Given the description of an element on the screen output the (x, y) to click on. 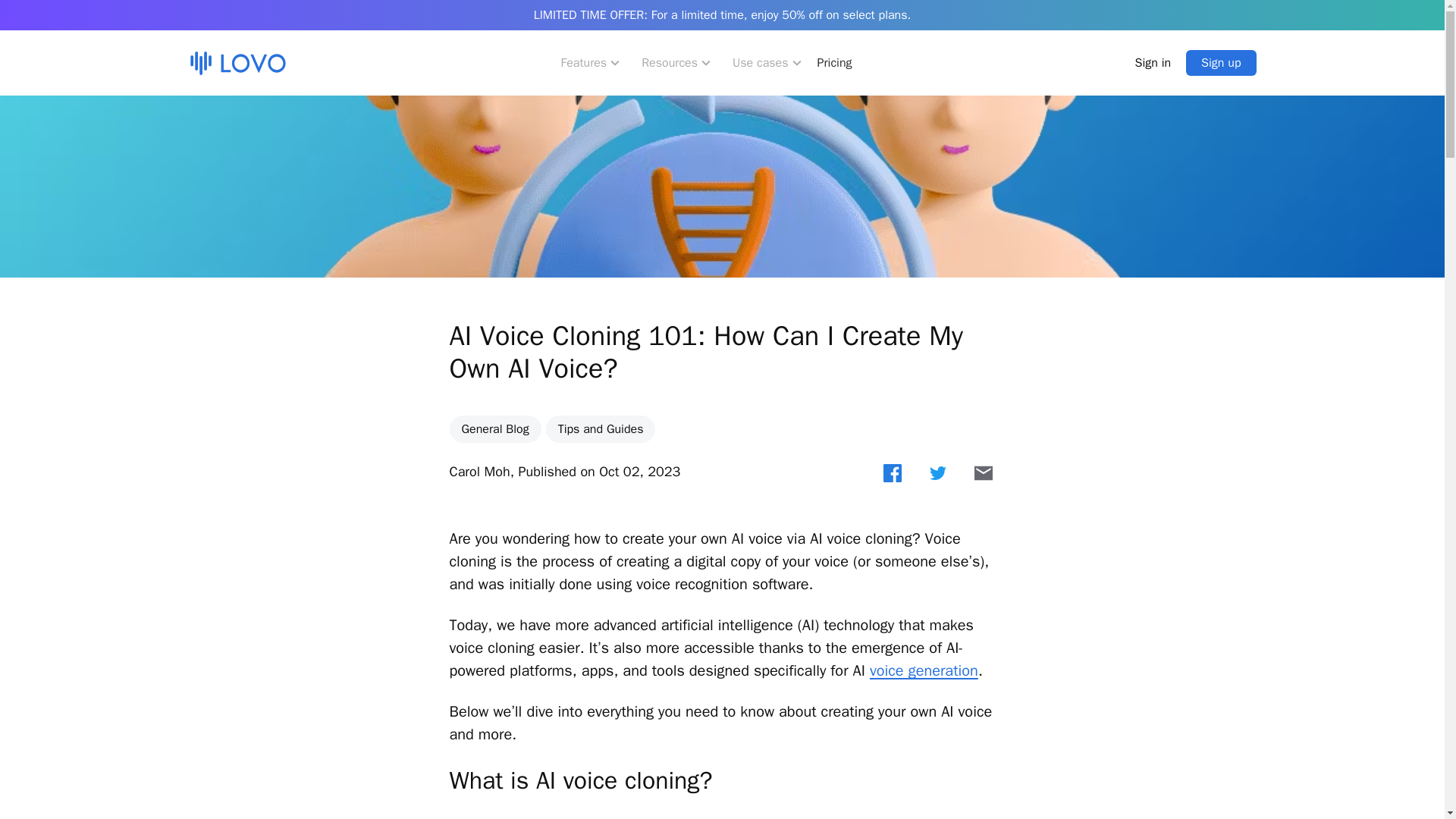
voice generation (923, 670)
Pricing (833, 62)
Use cases (768, 62)
Tips and Guides (601, 429)
Sign up (1220, 62)
Features (591, 62)
General Blog (494, 429)
Sign in (1152, 62)
Resources (677, 62)
